Given the description of an element on the screen output the (x, y) to click on. 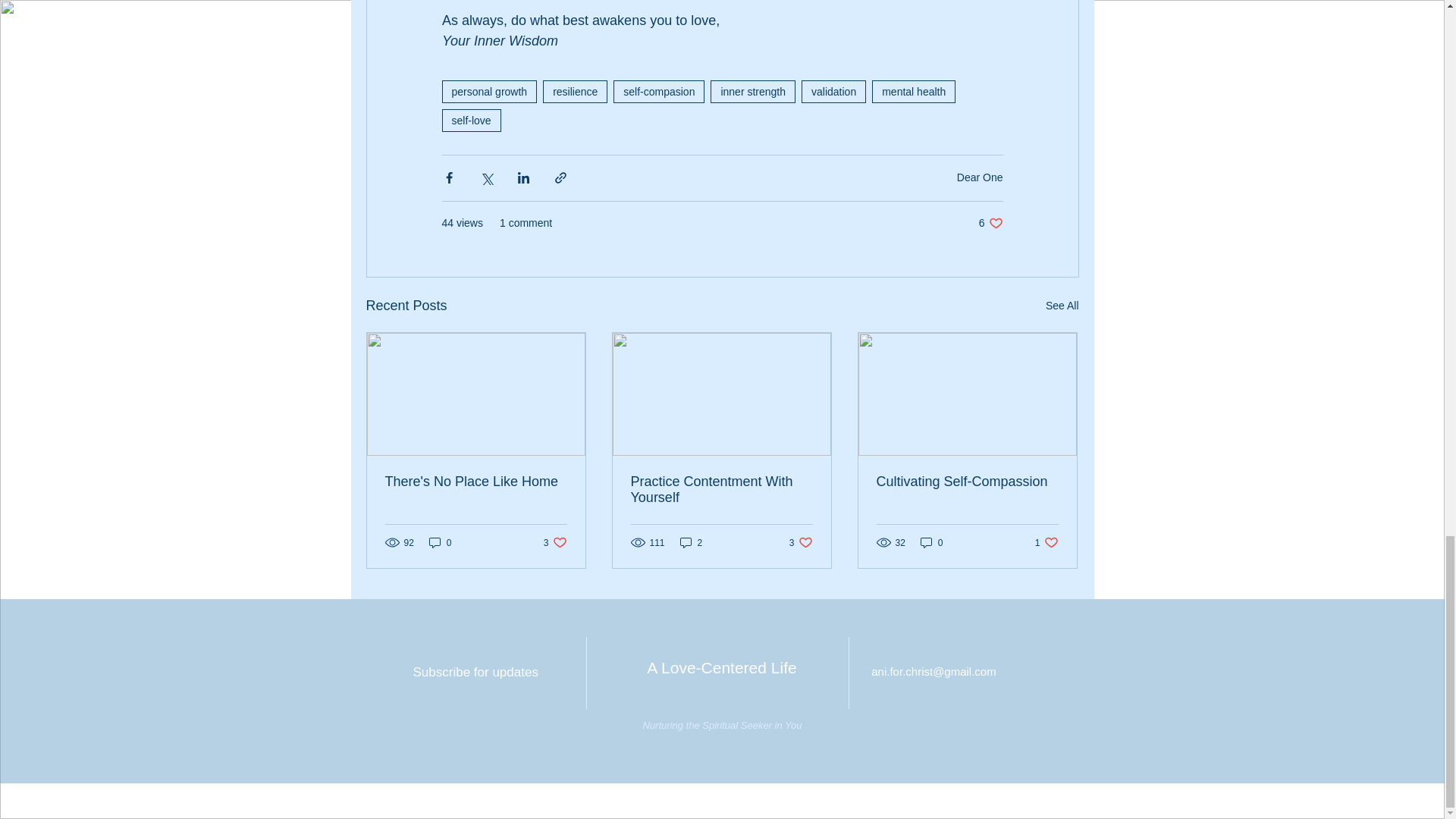
validation (555, 542)
self-compasion (834, 91)
There's No Place Like Home (658, 91)
resilience (476, 481)
self-love (575, 91)
mental health (470, 119)
0 (913, 91)
Cultivating Self-Compassion (440, 542)
